Given the description of an element on the screen output the (x, y) to click on. 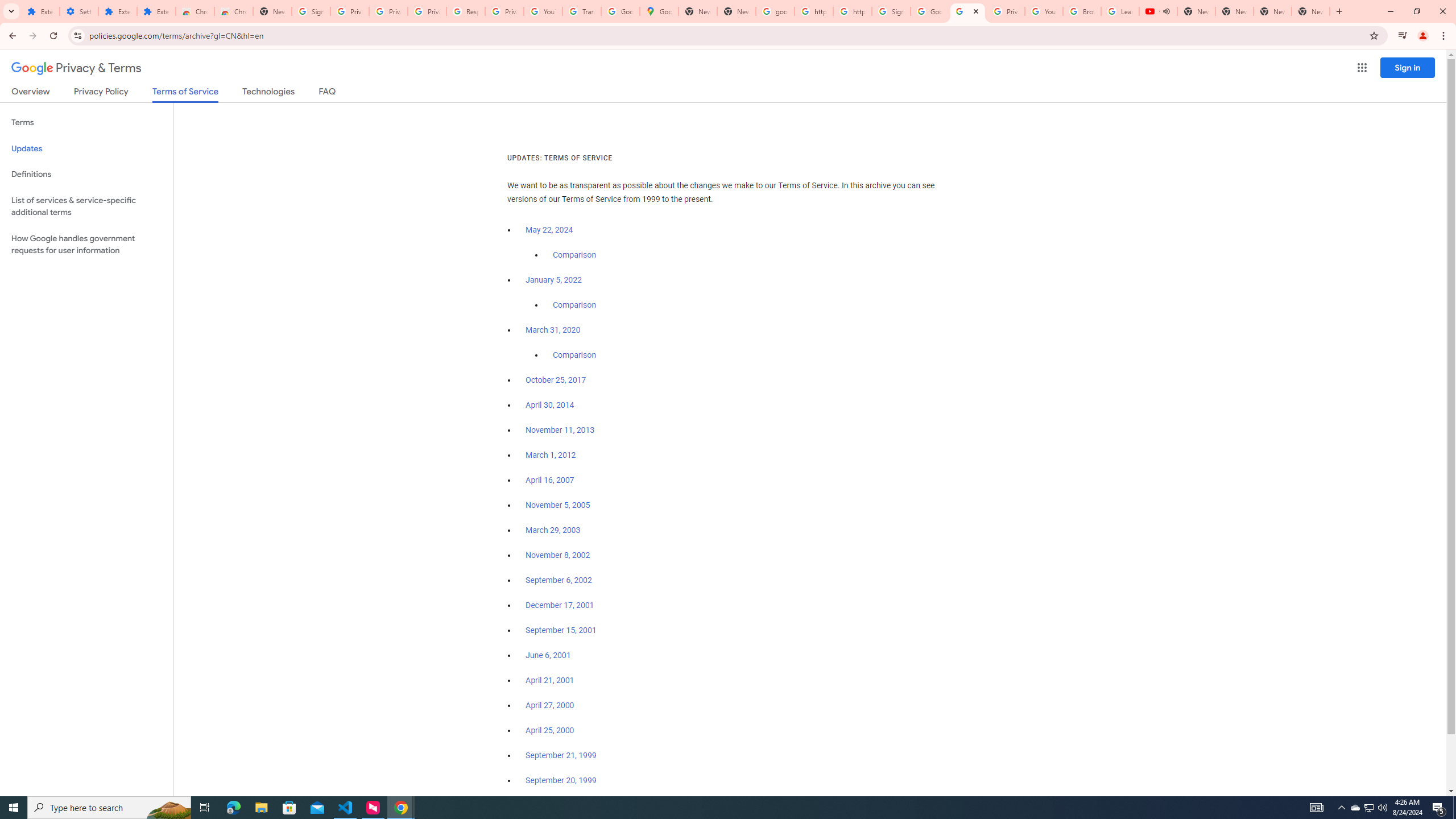
Chrome Web Store (194, 11)
YouTube (1043, 11)
Sign in - Google Accounts (890, 11)
April 25, 2000 (550, 729)
New Tab (1311, 11)
Chrome Web Store - Themes (233, 11)
Extensions (117, 11)
September 6, 2002 (558, 579)
October 25, 2017 (555, 380)
